Given the description of an element on the screen output the (x, y) to click on. 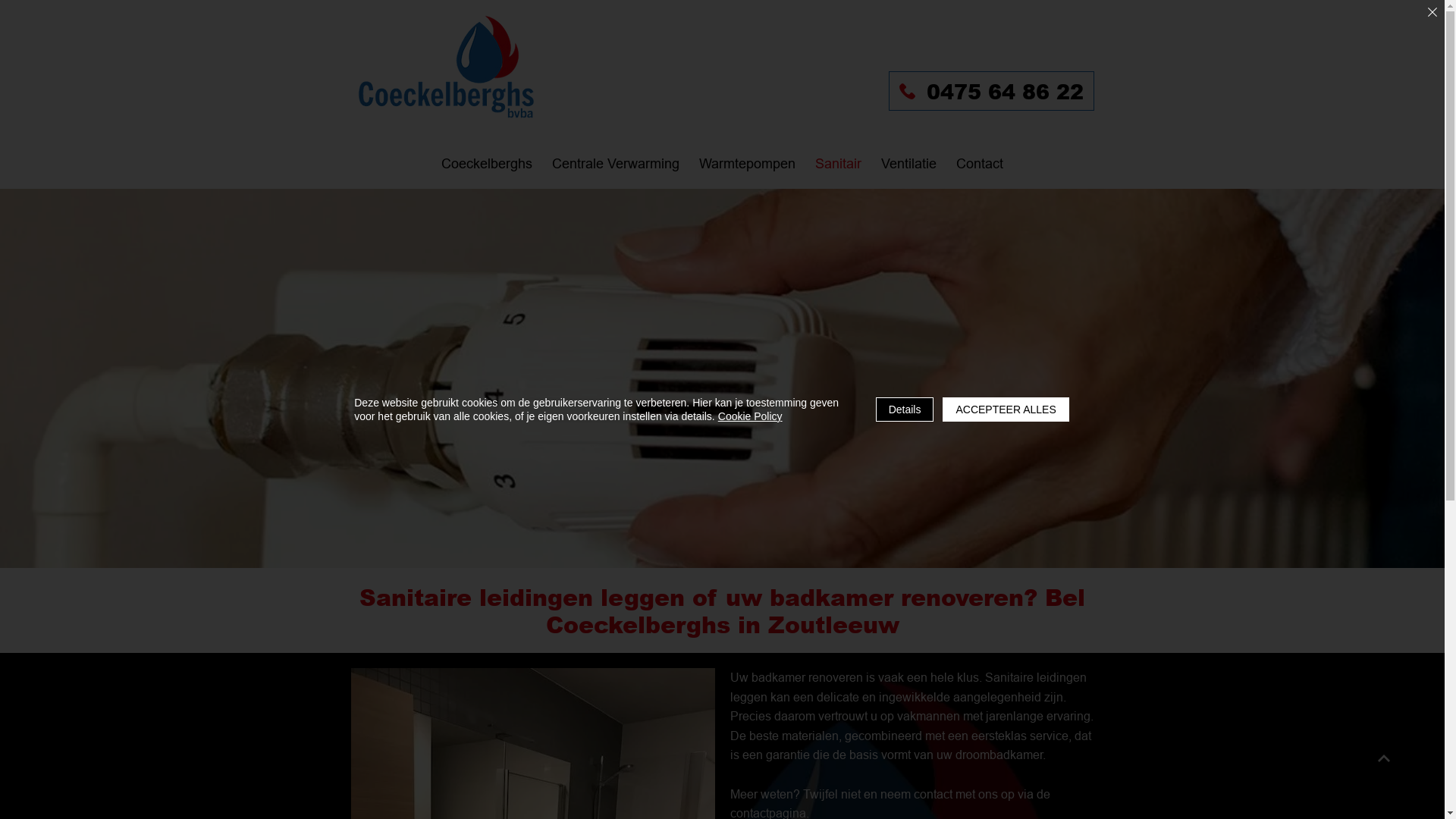
Coeckelberghs Element type: text (486, 163)
Contact Element type: text (979, 163)
Centrale Verwarming Element type: text (615, 163)
ACCEPTEER ALLES Element type: text (1005, 409)
Cookie Policy Element type: text (750, 416)
 Coeckelberghs Element type: hover (445, 67)
Sanitair Element type: text (838, 163)
Ventilatie Element type: text (908, 163)
0475 64 86 22 Element type: text (991, 90)
Details Element type: text (904, 409)
Warmtepompen Element type: text (747, 163)
